Given the description of an element on the screen output the (x, y) to click on. 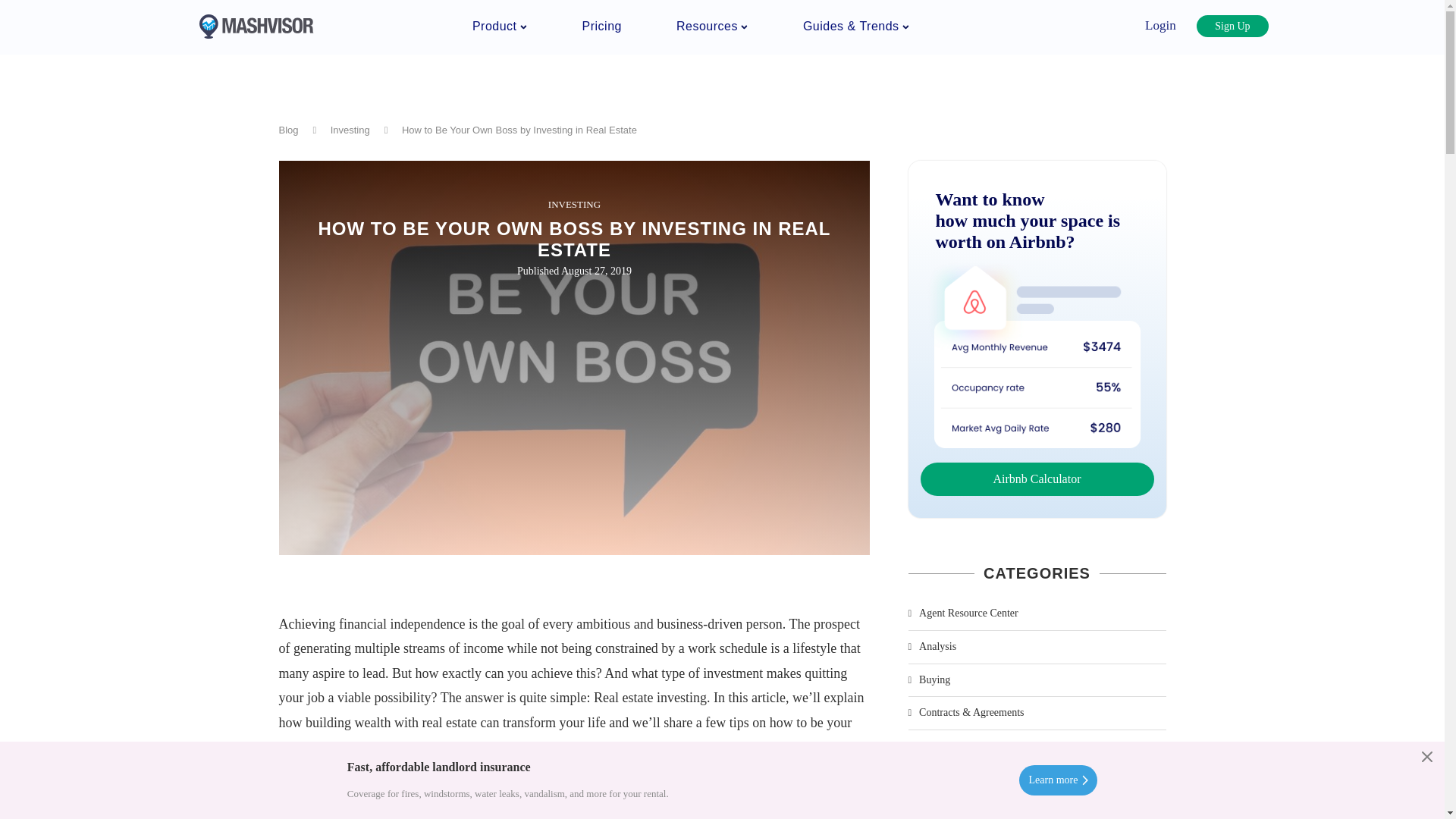
Resources (712, 25)
Blog (288, 129)
Product (499, 25)
Pricing (601, 25)
